Given the description of an element on the screen output the (x, y) to click on. 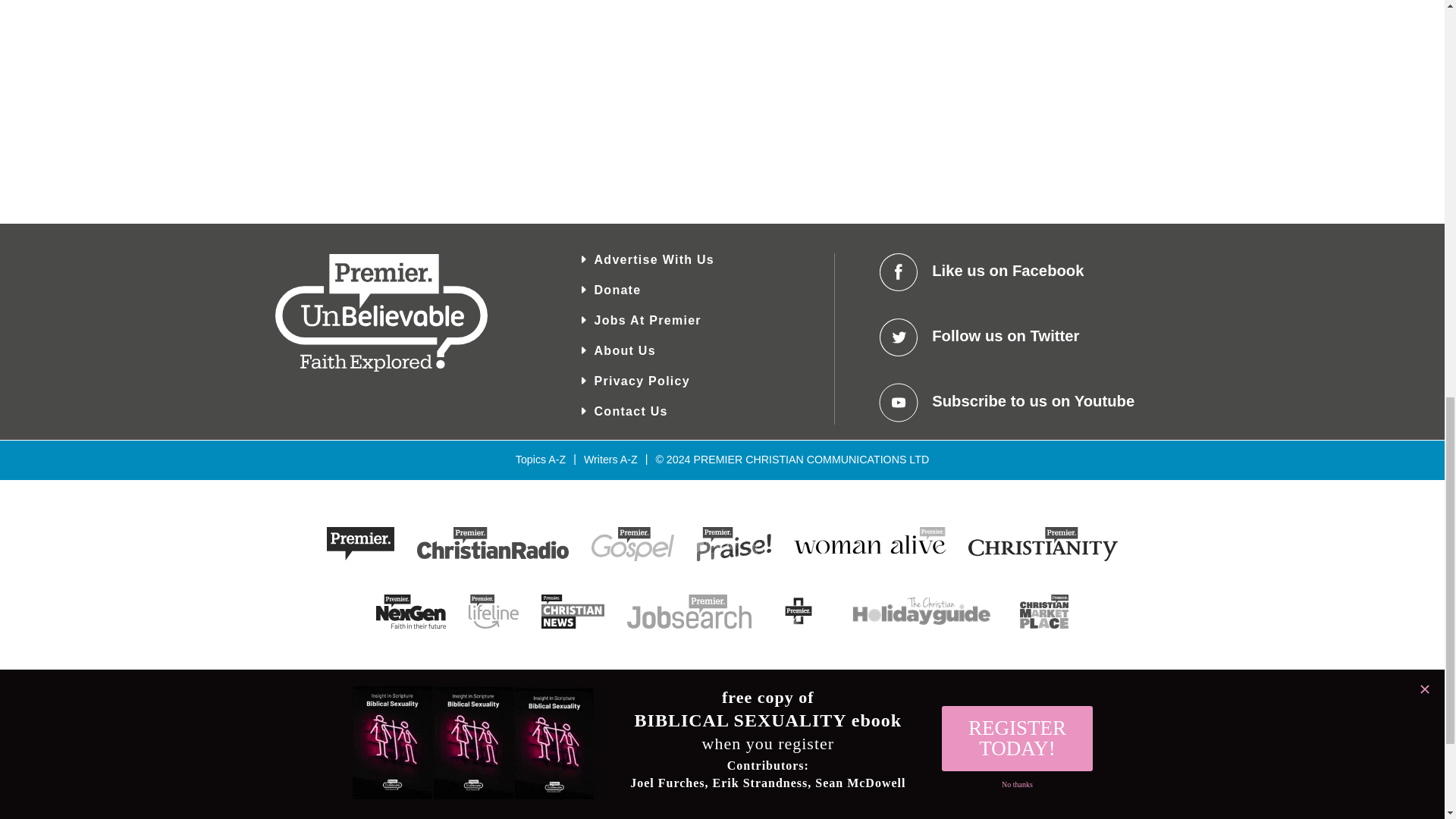
3rd party ad content (1055, 95)
